Given the description of an element on the screen output the (x, y) to click on. 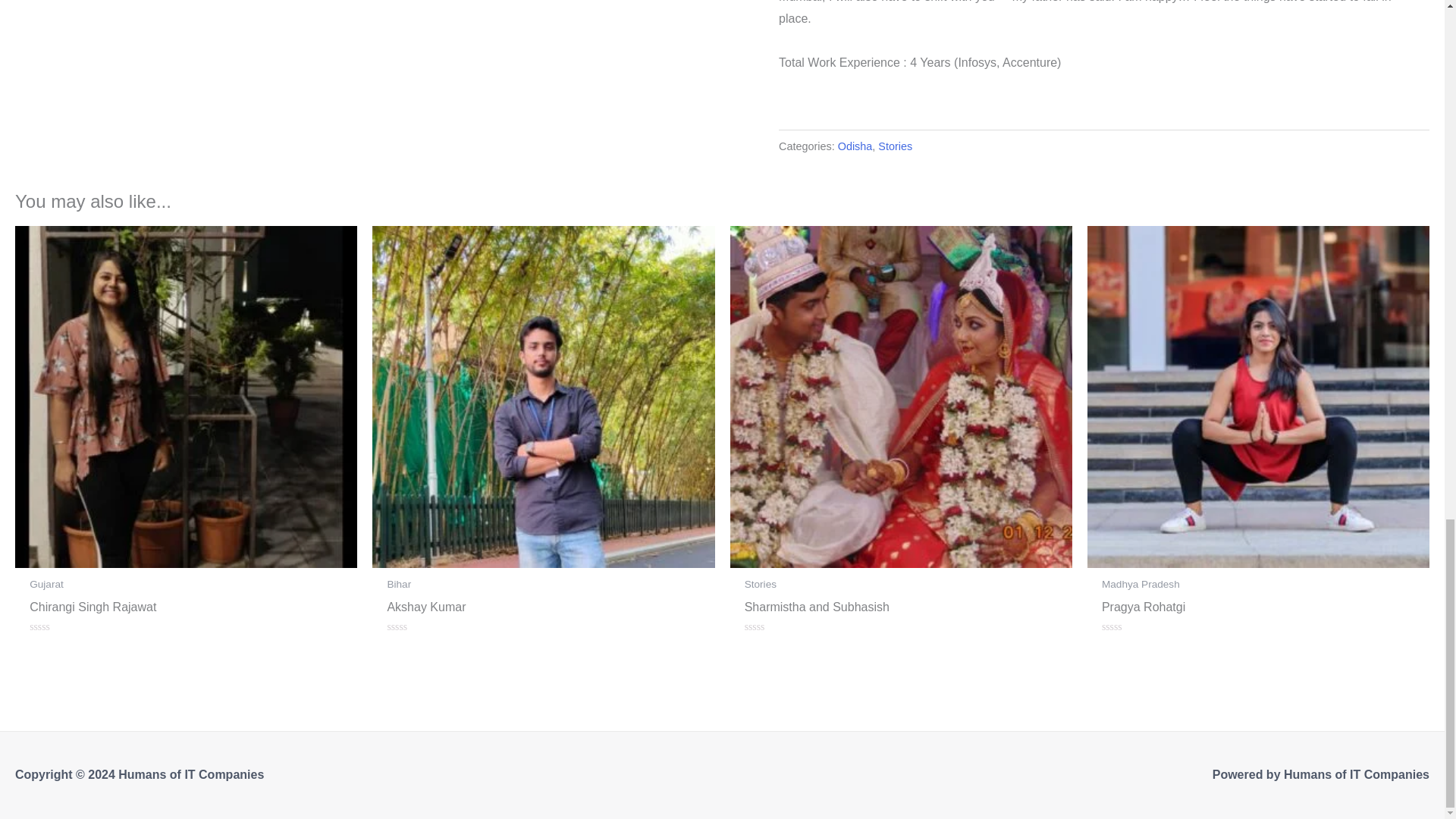
Chirangi Singh Rajawat (185, 610)
Stories (894, 146)
Sharmistha and Subhasish (901, 610)
Odisha (855, 146)
Akshay Kumar (543, 610)
Pragya Rohatgi (1258, 610)
